Given the description of an element on the screen output the (x, y) to click on. 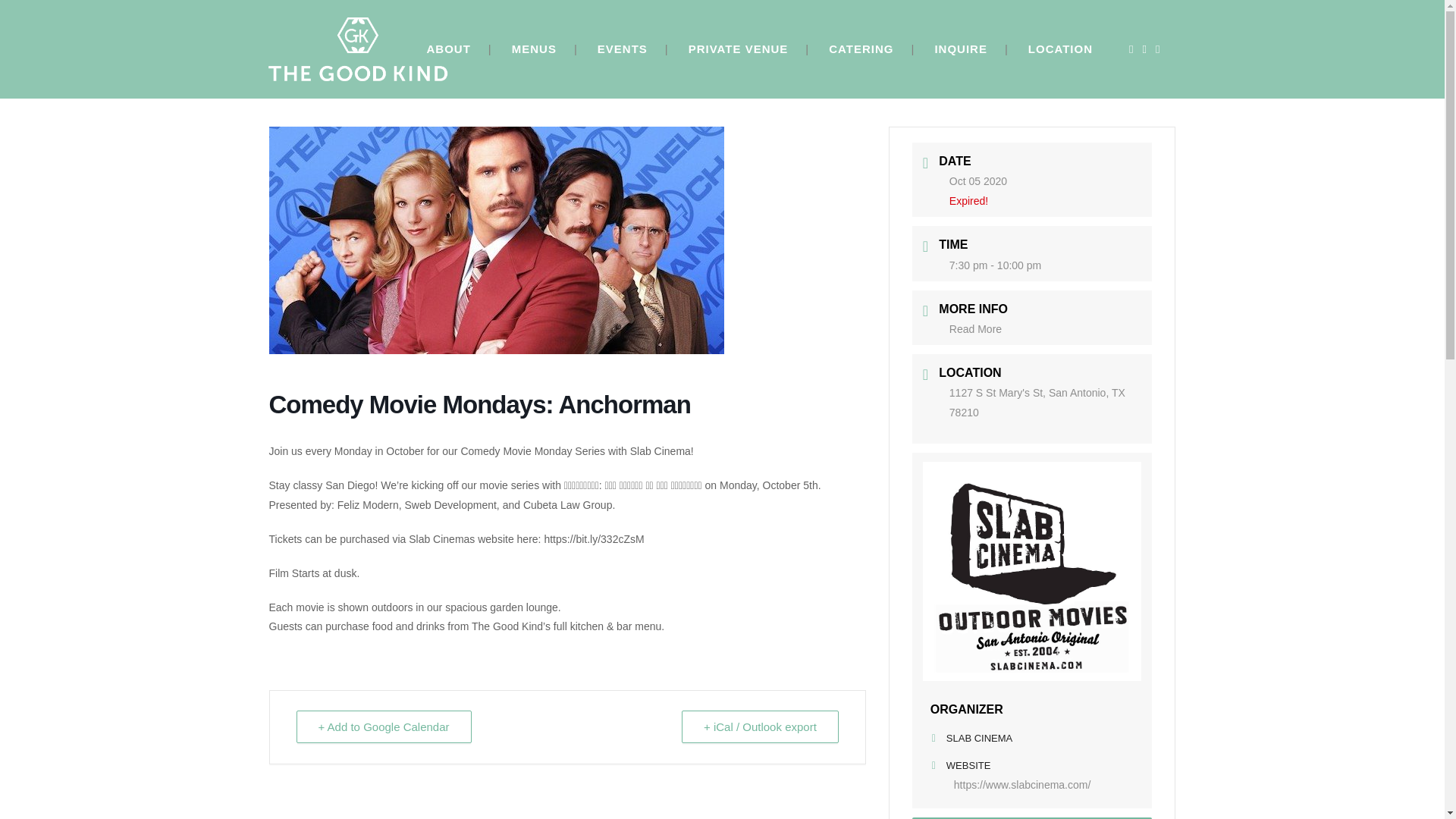
EVENTS (622, 49)
Read More (975, 328)
CATERING (860, 49)
INQUIRE (960, 49)
LOCATION (1060, 49)
PRIVATE VENUE (738, 49)
